Given the description of an element on the screen output the (x, y) to click on. 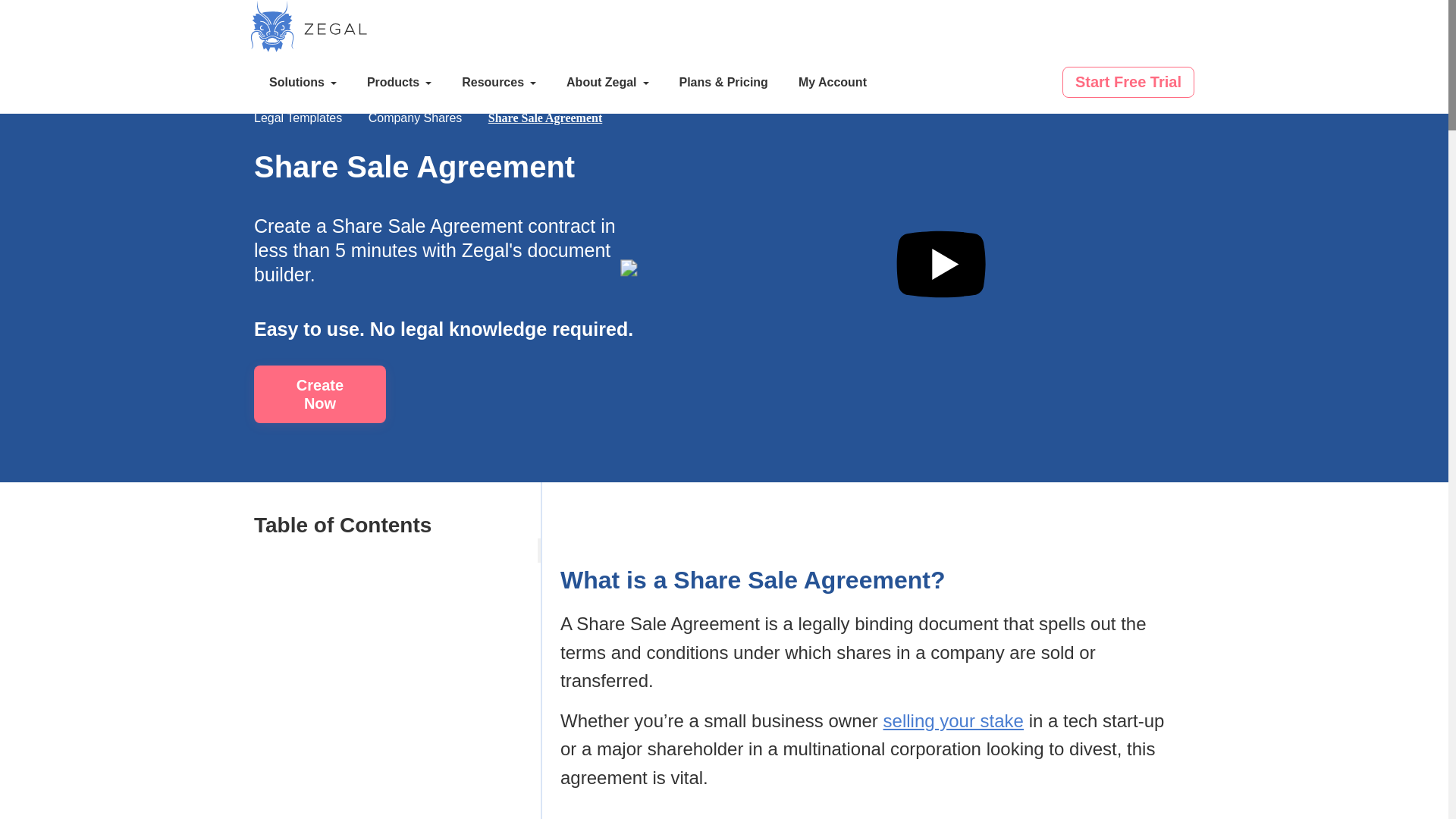
Products (399, 82)
My Account (832, 82)
About Zegal (607, 82)
Create Now (319, 394)
Start Free Trial (1127, 81)
Legal Templates (297, 117)
Solutions (302, 82)
selling your stake (953, 720)
Resources (498, 82)
Search (1034, 84)
Company Shares (415, 117)
